Given the description of an element on the screen output the (x, y) to click on. 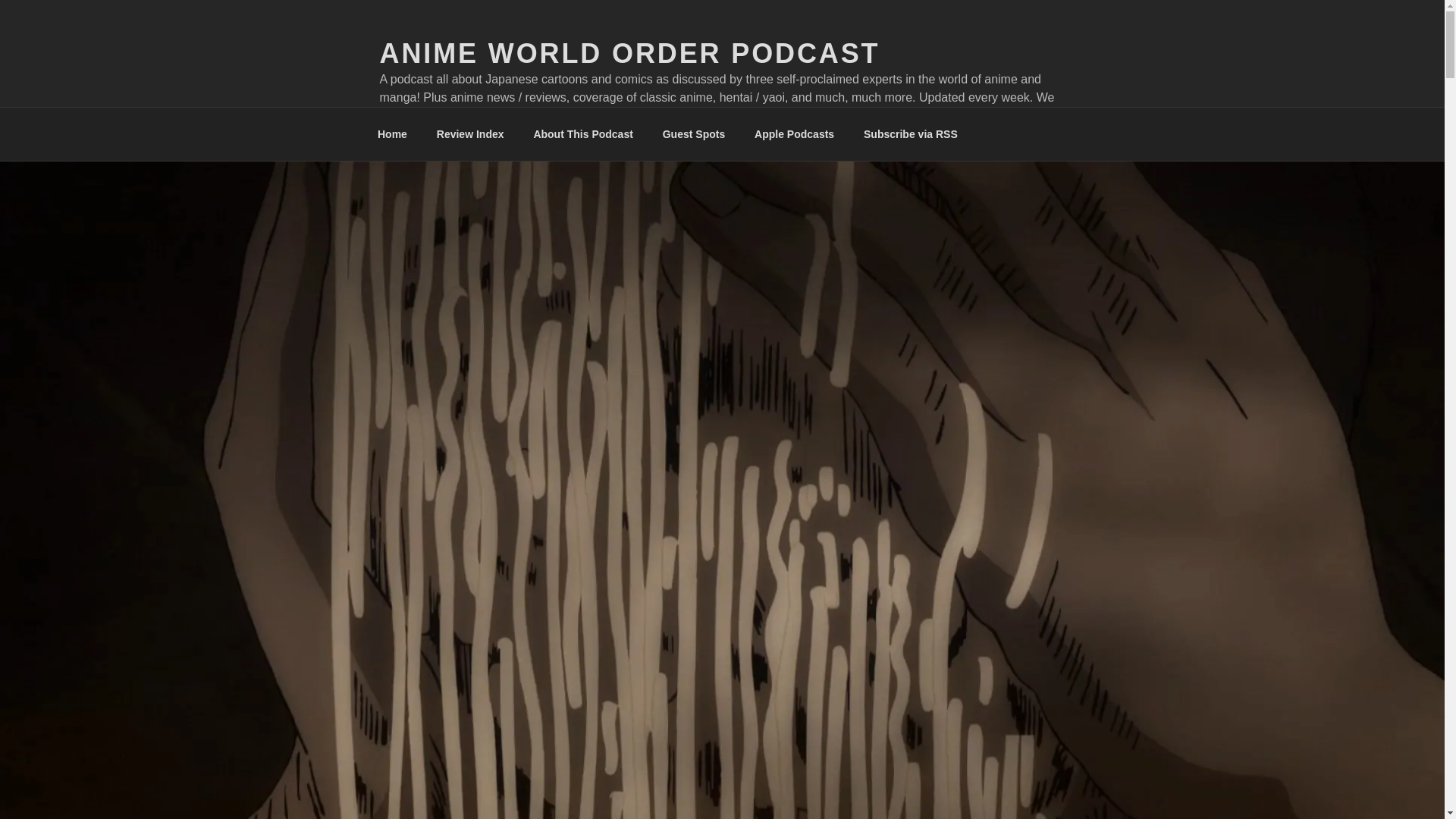
Review Index (469, 133)
About This Podcast (582, 133)
Apple Podcasts (794, 133)
ANIME WORLD ORDER PODCAST (628, 52)
Home (392, 133)
Guest Spots (693, 133)
Subscribe via RSS (910, 133)
